Given the description of an element on the screen output the (x, y) to click on. 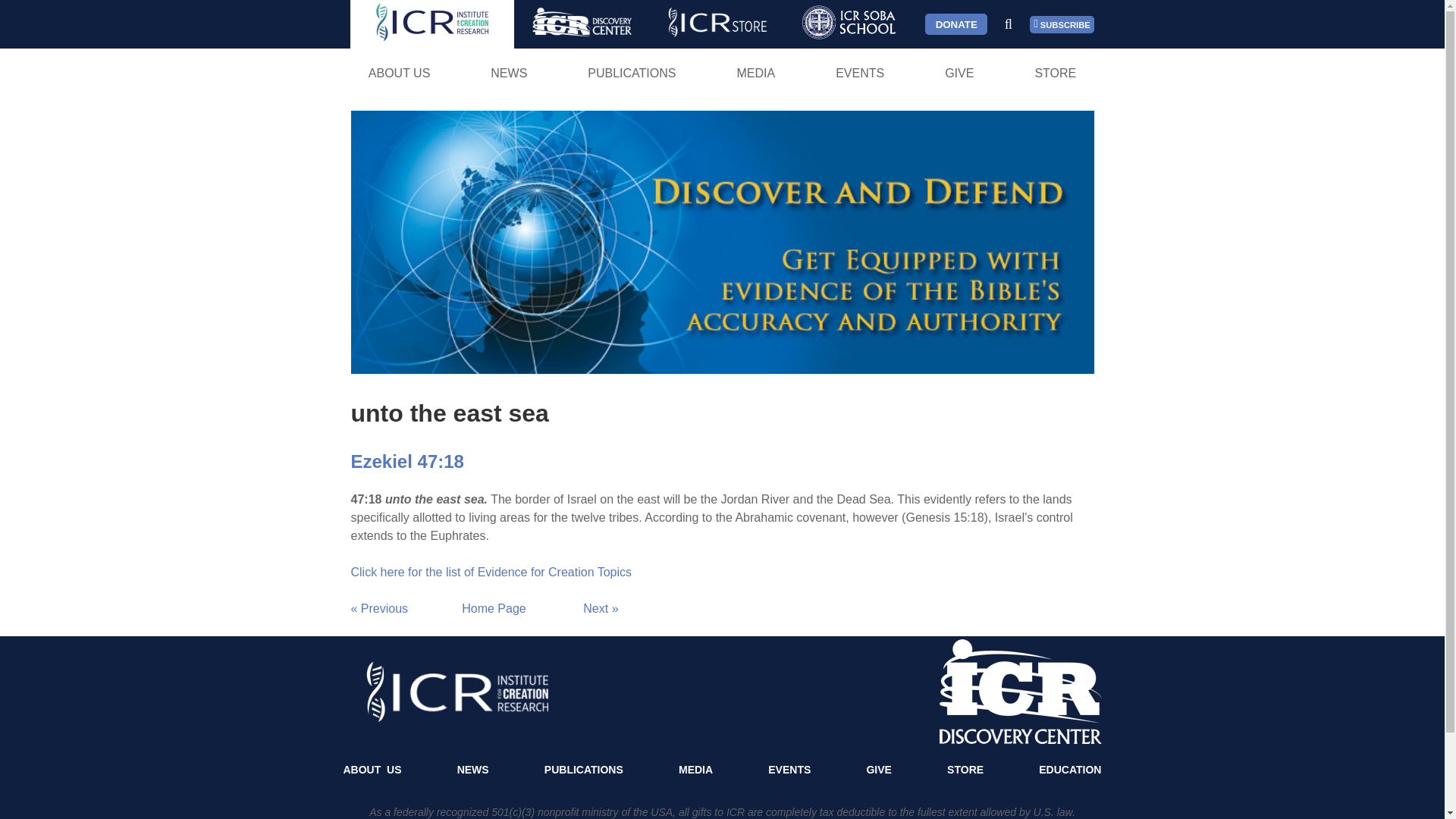
NEWS (508, 73)
PUBLICATIONS (631, 73)
SUBSCRIBE (1061, 24)
ABOUT US (399, 73)
DONATE (955, 24)
